Given the description of an element on the screen output the (x, y) to click on. 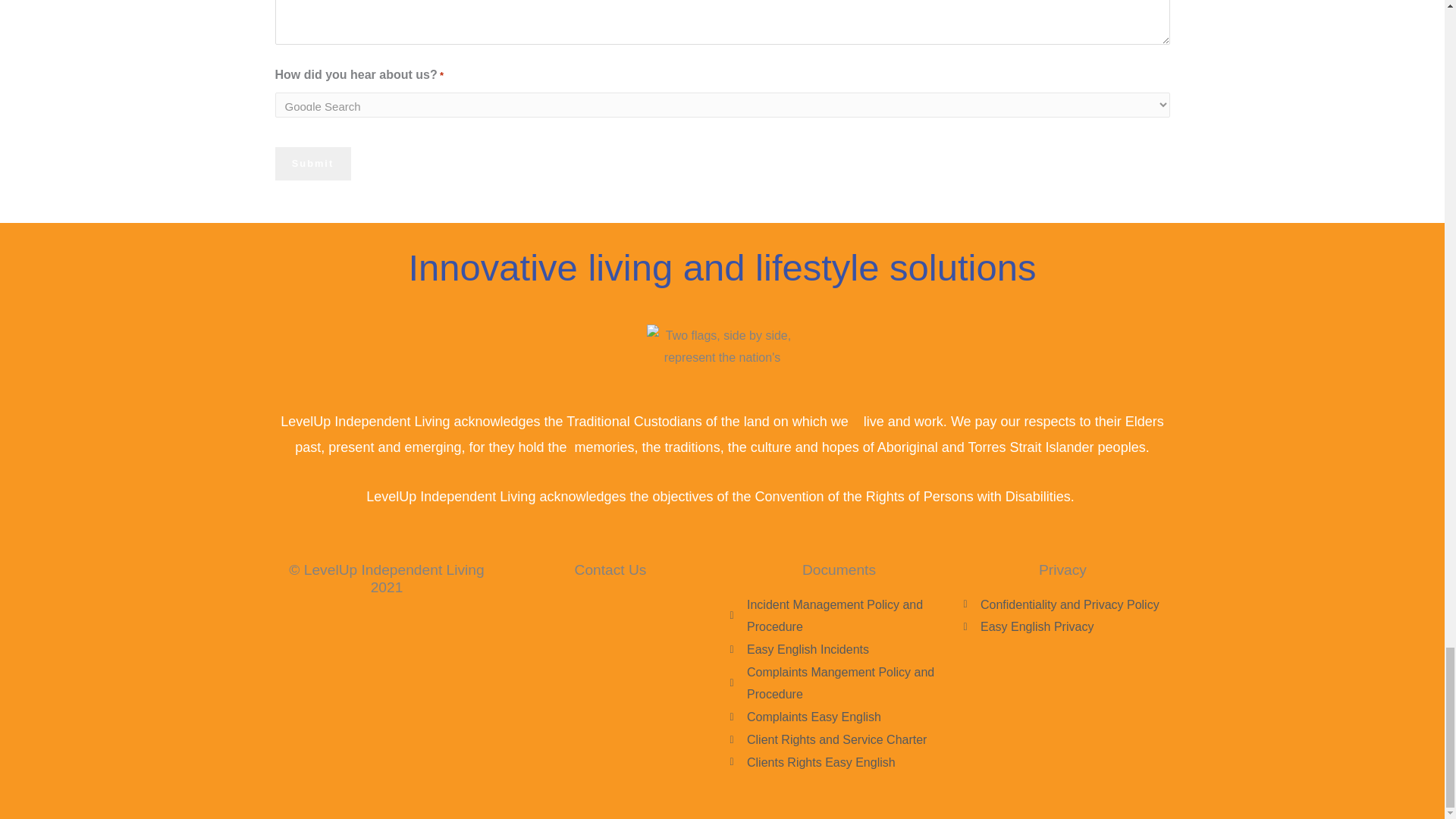
Supported-Independent-Living-Sunshine-Coast (721, 346)
Submit (312, 163)
